Given the description of an element on the screen output the (x, y) to click on. 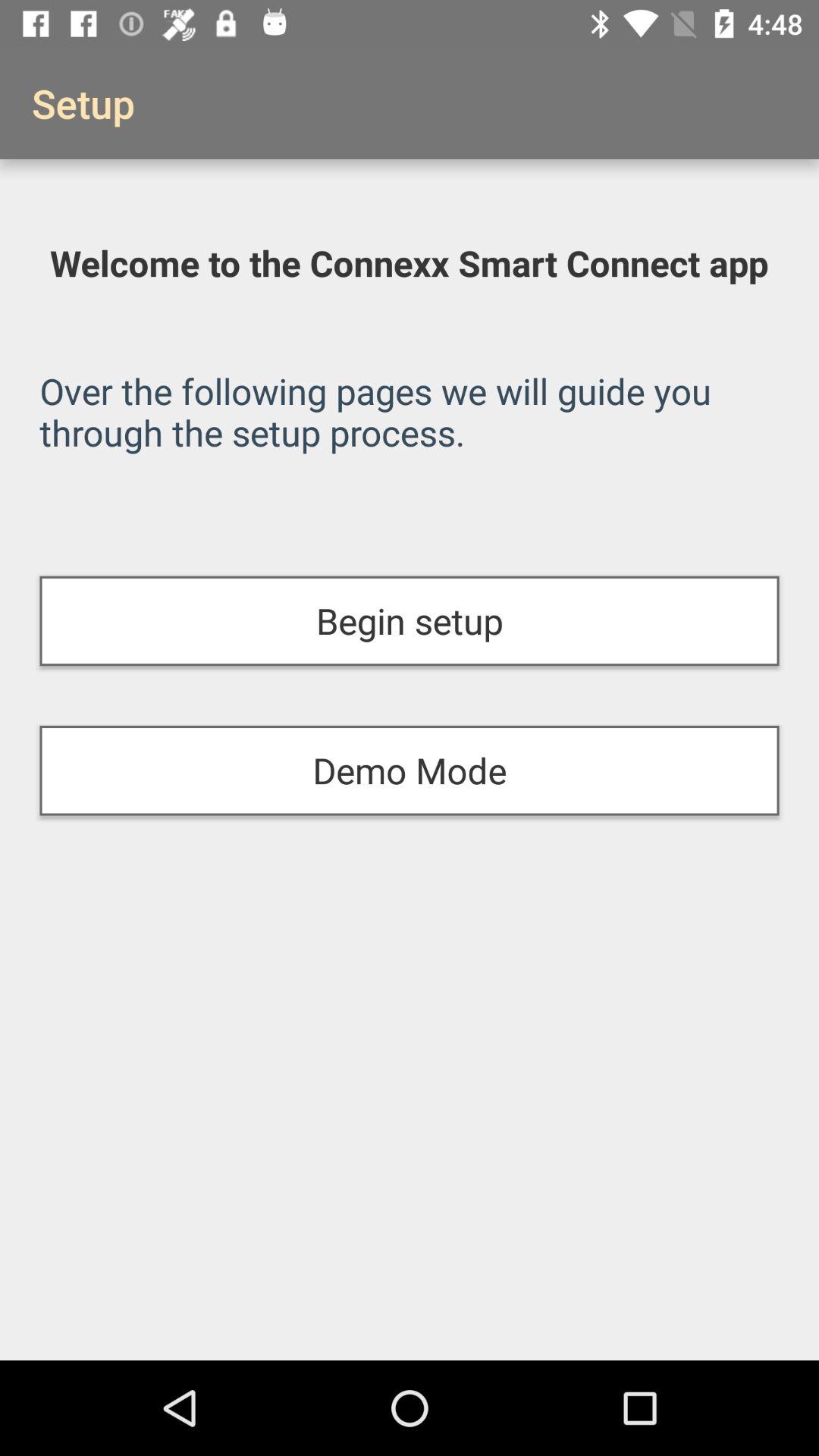
select the demo mode (409, 770)
